Given the description of an element on the screen output the (x, y) to click on. 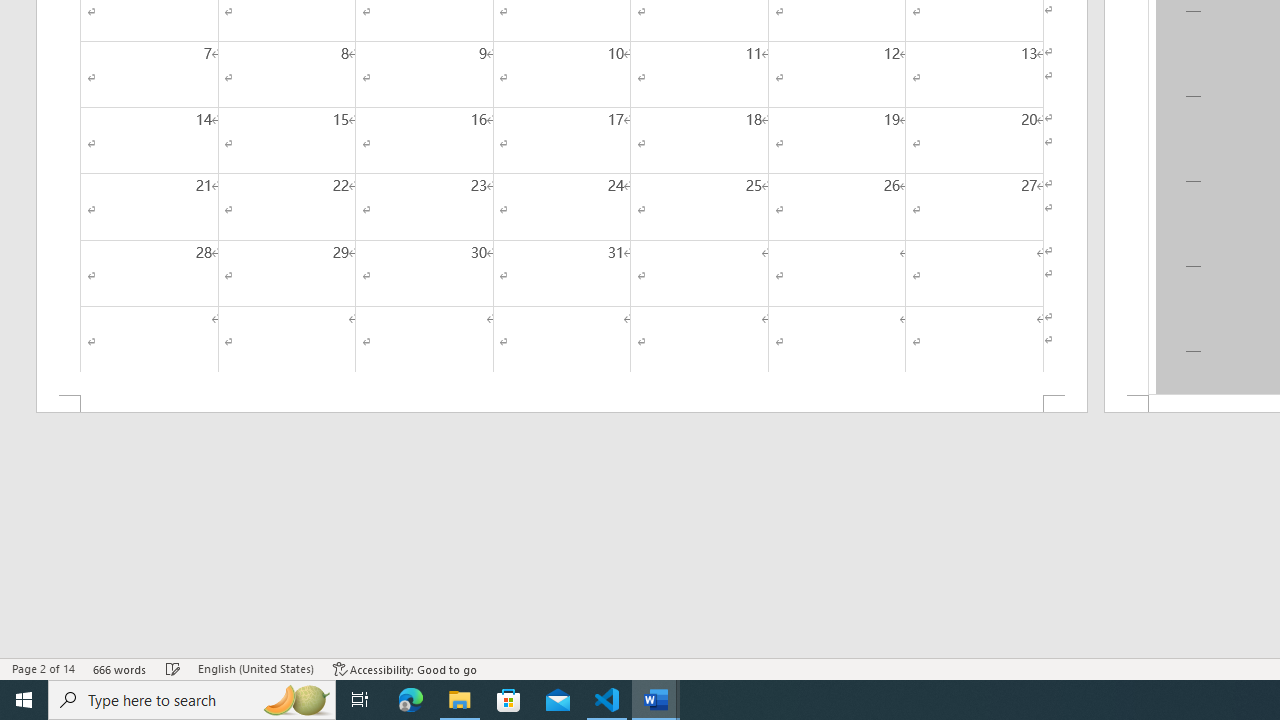
Language English (United States) (255, 668)
Page Number Page 2 of 14 (43, 668)
Word Count 666 words (119, 668)
Footer -Section 1- (561, 404)
Accessibility Checker Accessibility: Good to go (405, 668)
Spelling and Grammar Check Checking (173, 668)
